Given the description of an element on the screen output the (x, y) to click on. 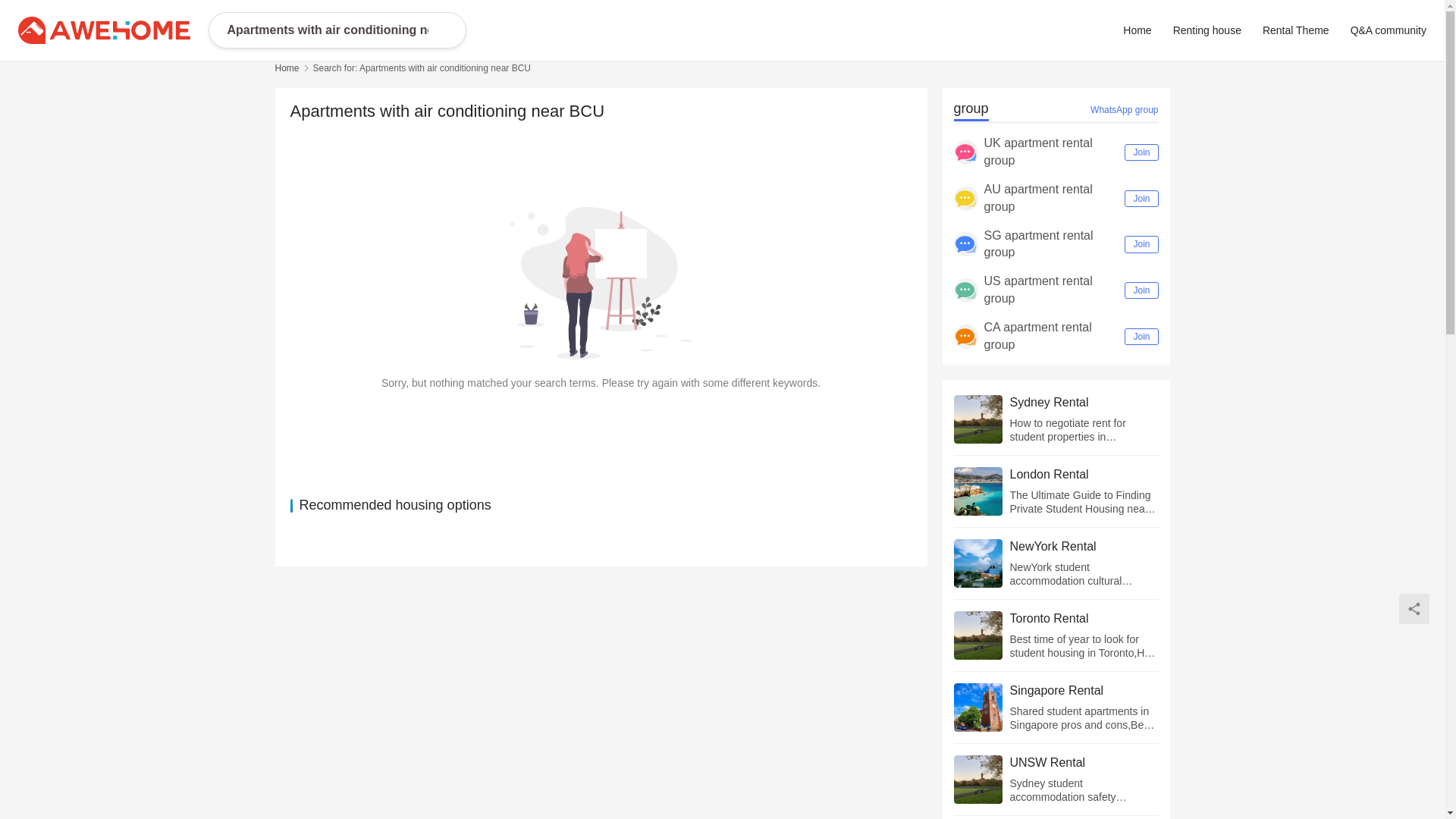
Toronto Rental (1084, 618)
Sydney Rental (1084, 402)
London Rental (1084, 474)
Apartments with air conditioning near BCU (327, 30)
Apartments with air conditioning near BCU (327, 30)
Rental Theme (1295, 29)
